Given the description of an element on the screen output the (x, y) to click on. 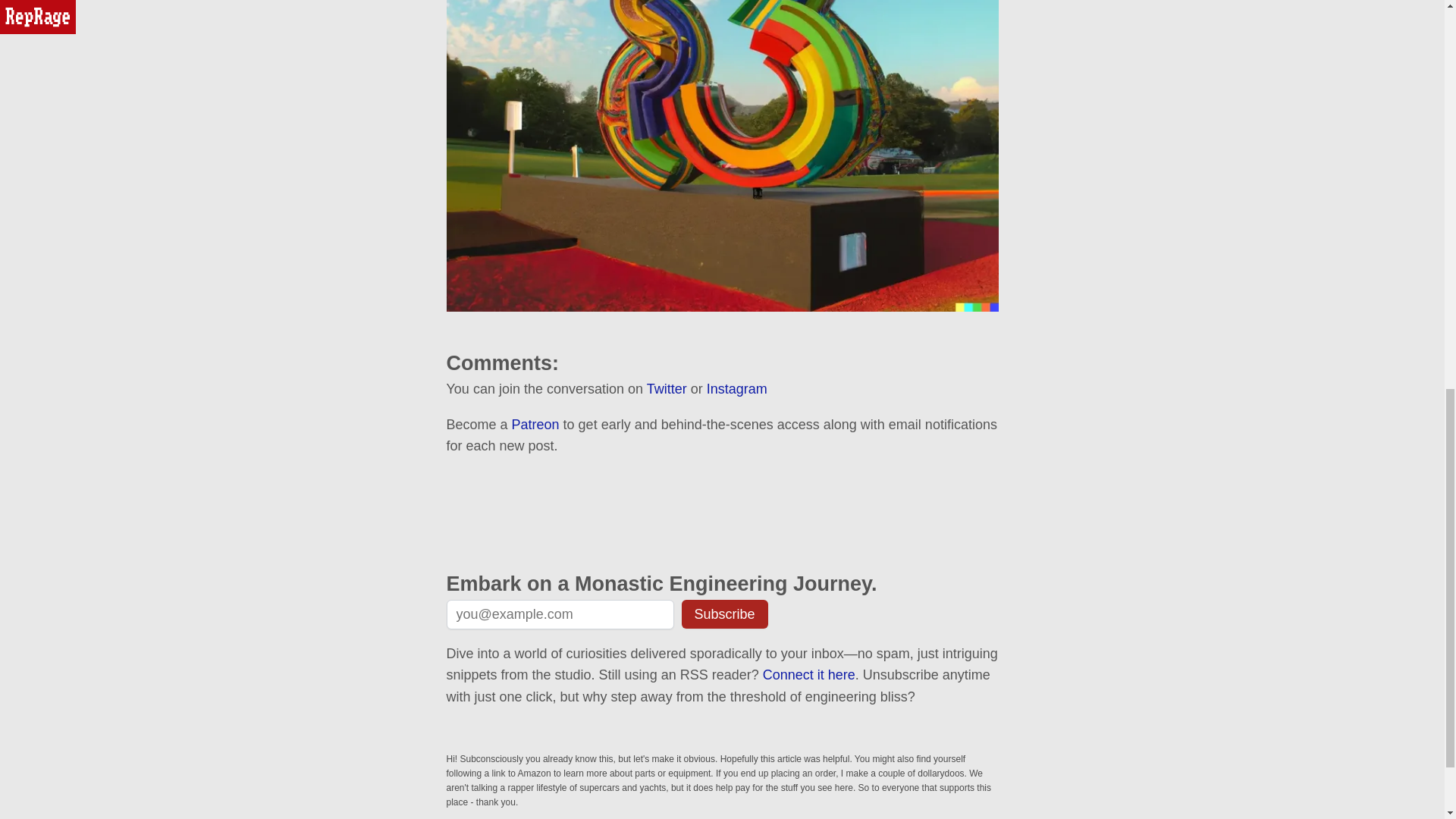
Subscribe (724, 613)
Connect it here (809, 674)
Patreon (535, 424)
Twitter (666, 388)
Instagram (736, 388)
